Given the description of an element on the screen output the (x, y) to click on. 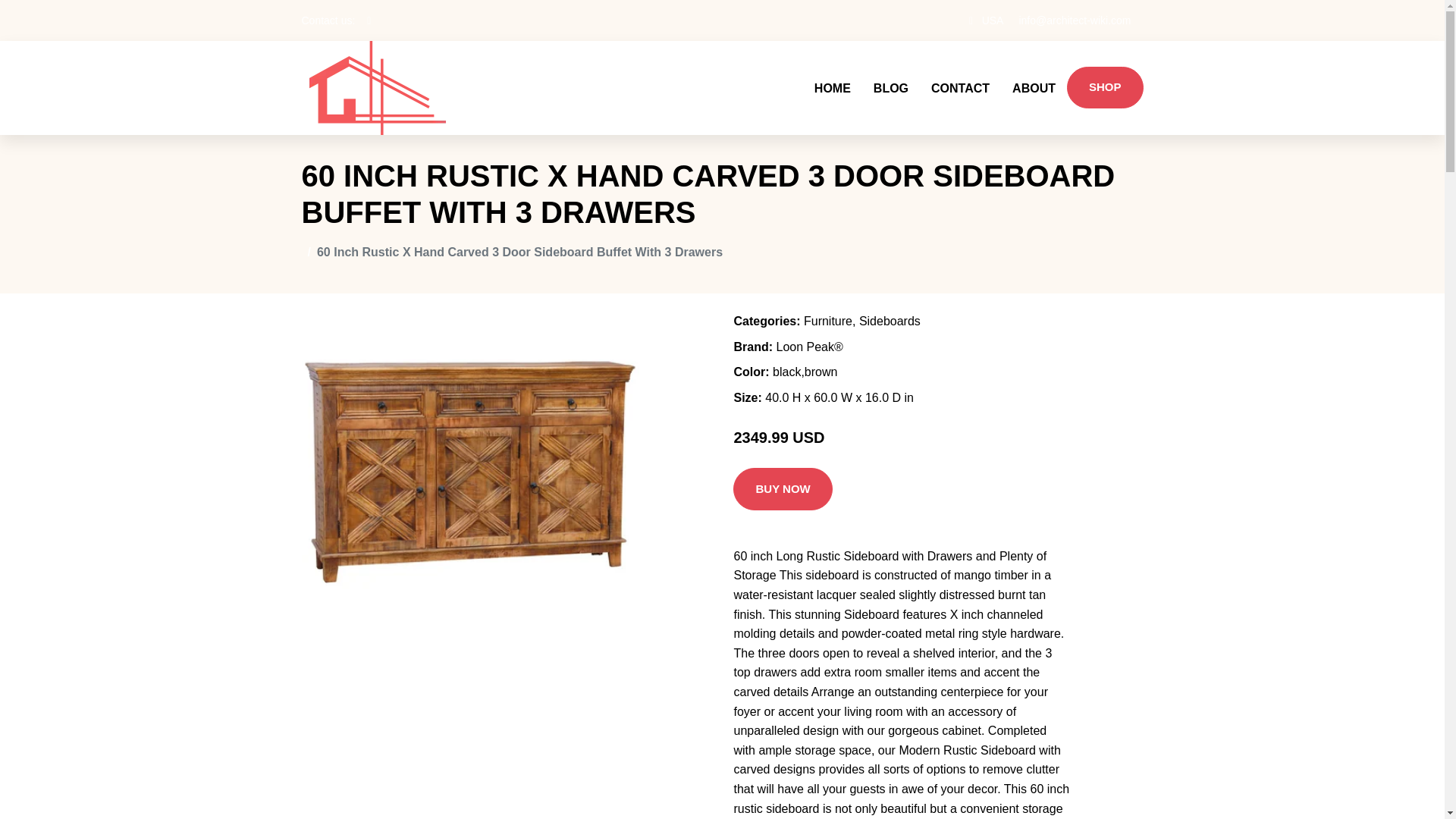
CONTACT (960, 88)
Furniture (827, 320)
SHOP (1104, 87)
USA (992, 20)
Sideboards (889, 320)
BUY NOW (782, 488)
